Given the description of an element on the screen output the (x, y) to click on. 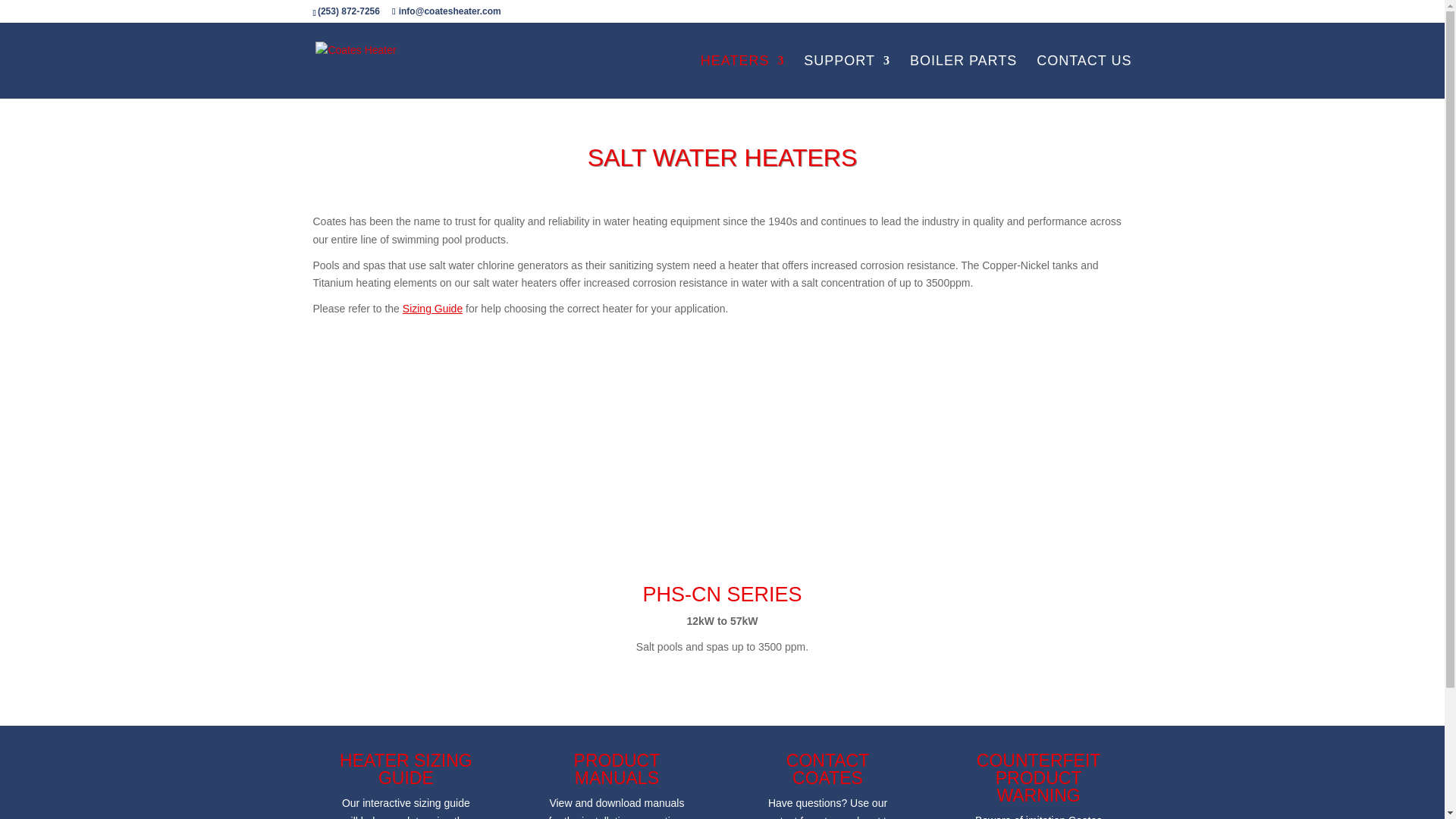
BOILER PARTS (963, 76)
Sizing Guide (433, 308)
HEATERS (742, 76)
SUPPORT (846, 76)
CONTACT US (1083, 76)
